Given the description of an element on the screen output the (x, y) to click on. 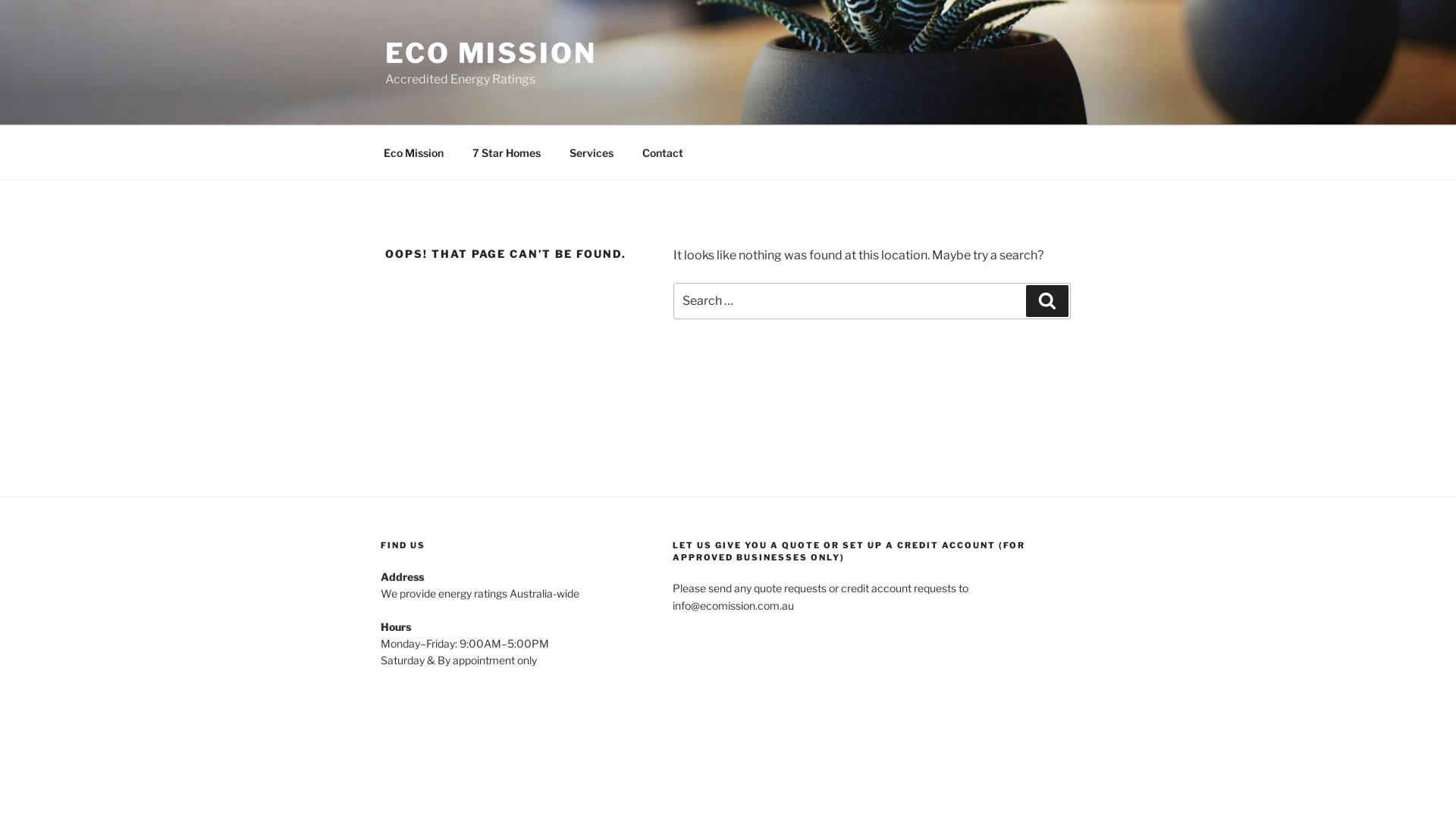
ECO MISSION Element type: text (490, 52)
Services Element type: text (590, 151)
Search Element type: text (1047, 300)
Contact Element type: text (662, 151)
7 Star Homes Element type: text (505, 151)
Eco Mission Element type: text (413, 151)
